Given the description of an element on the screen output the (x, y) to click on. 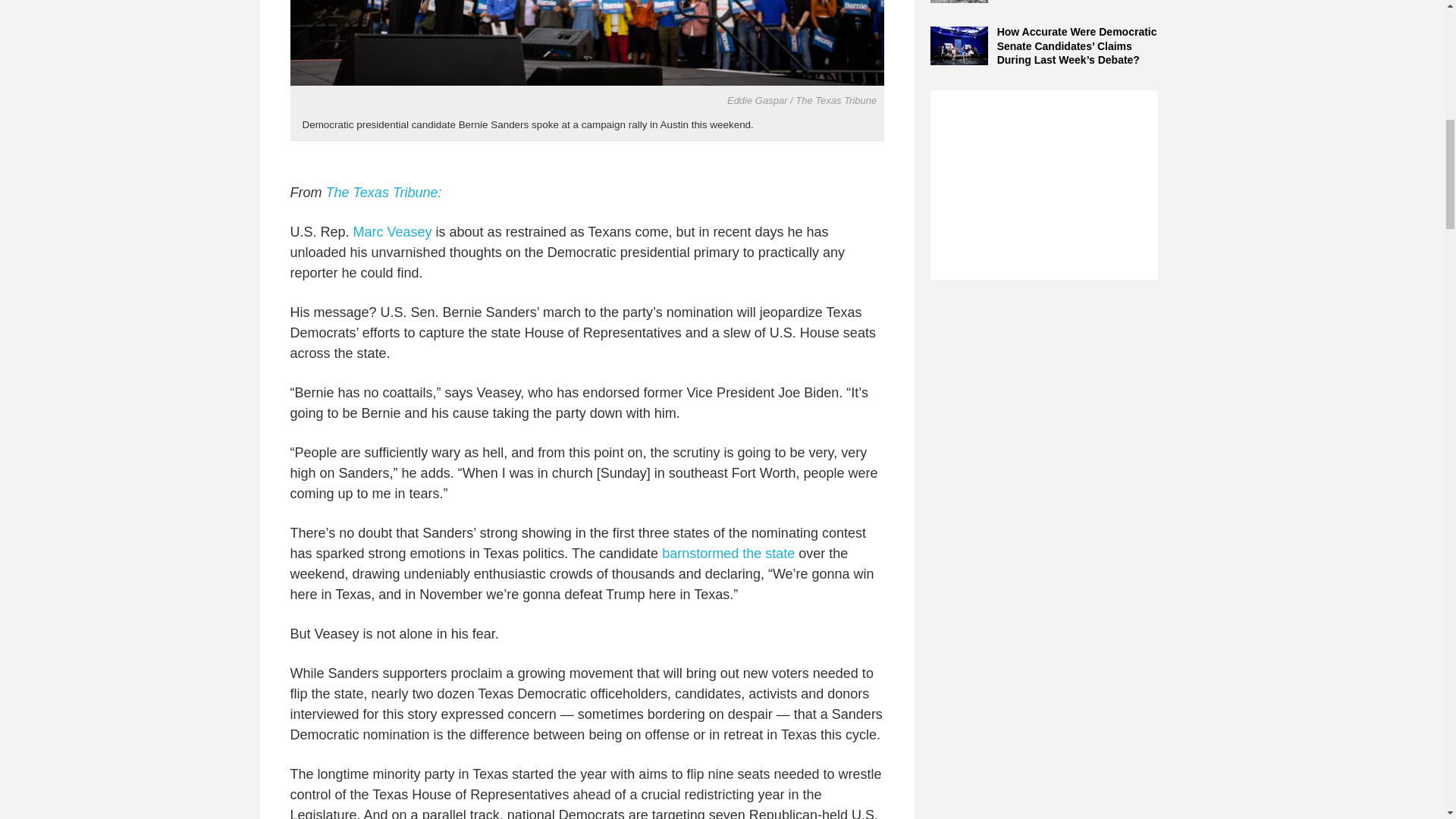
3rd party ad content (1043, 185)
